Given the description of an element on the screen output the (x, y) to click on. 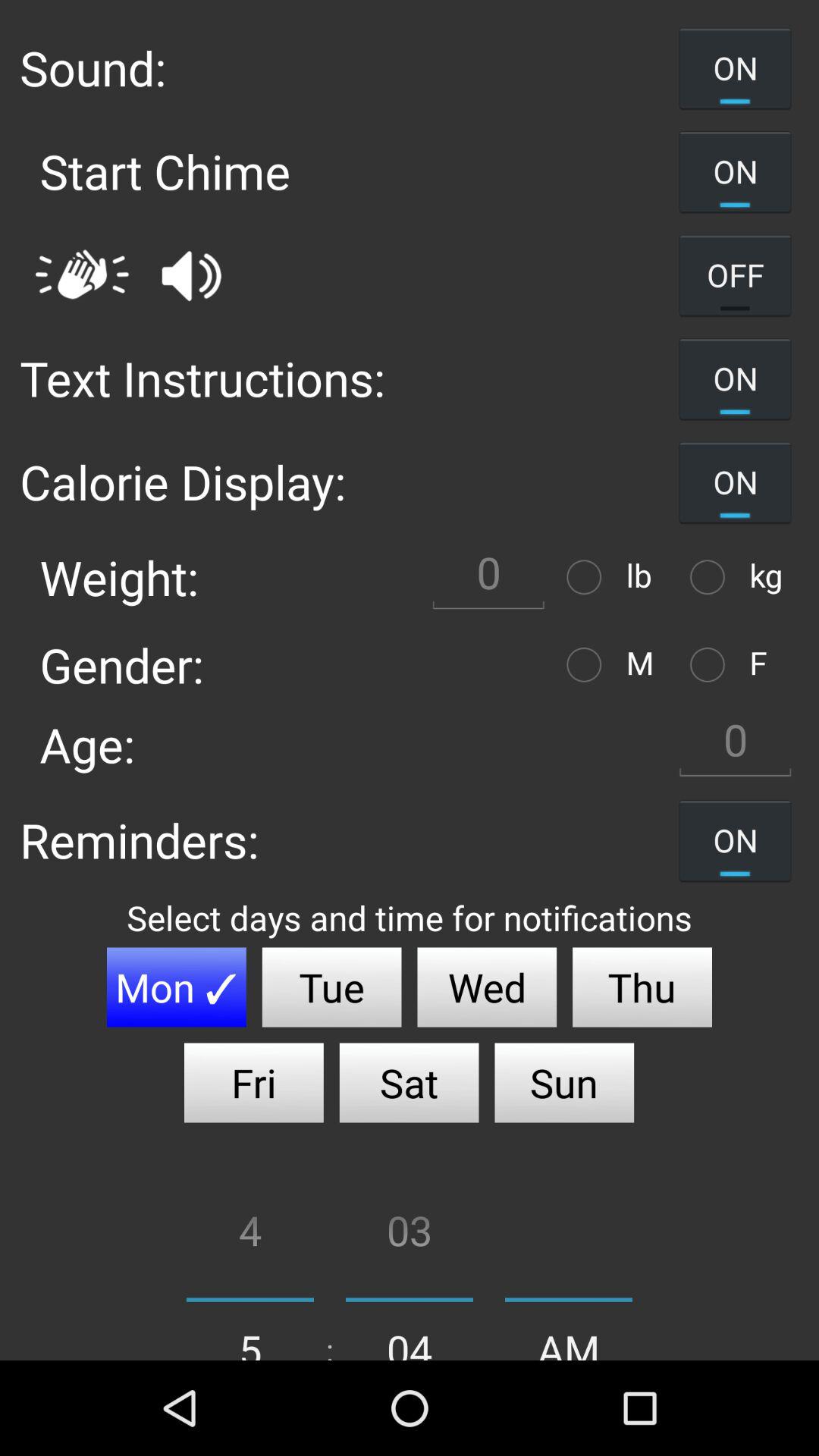
add weight (587, 577)
